Given the description of an element on the screen output the (x, y) to click on. 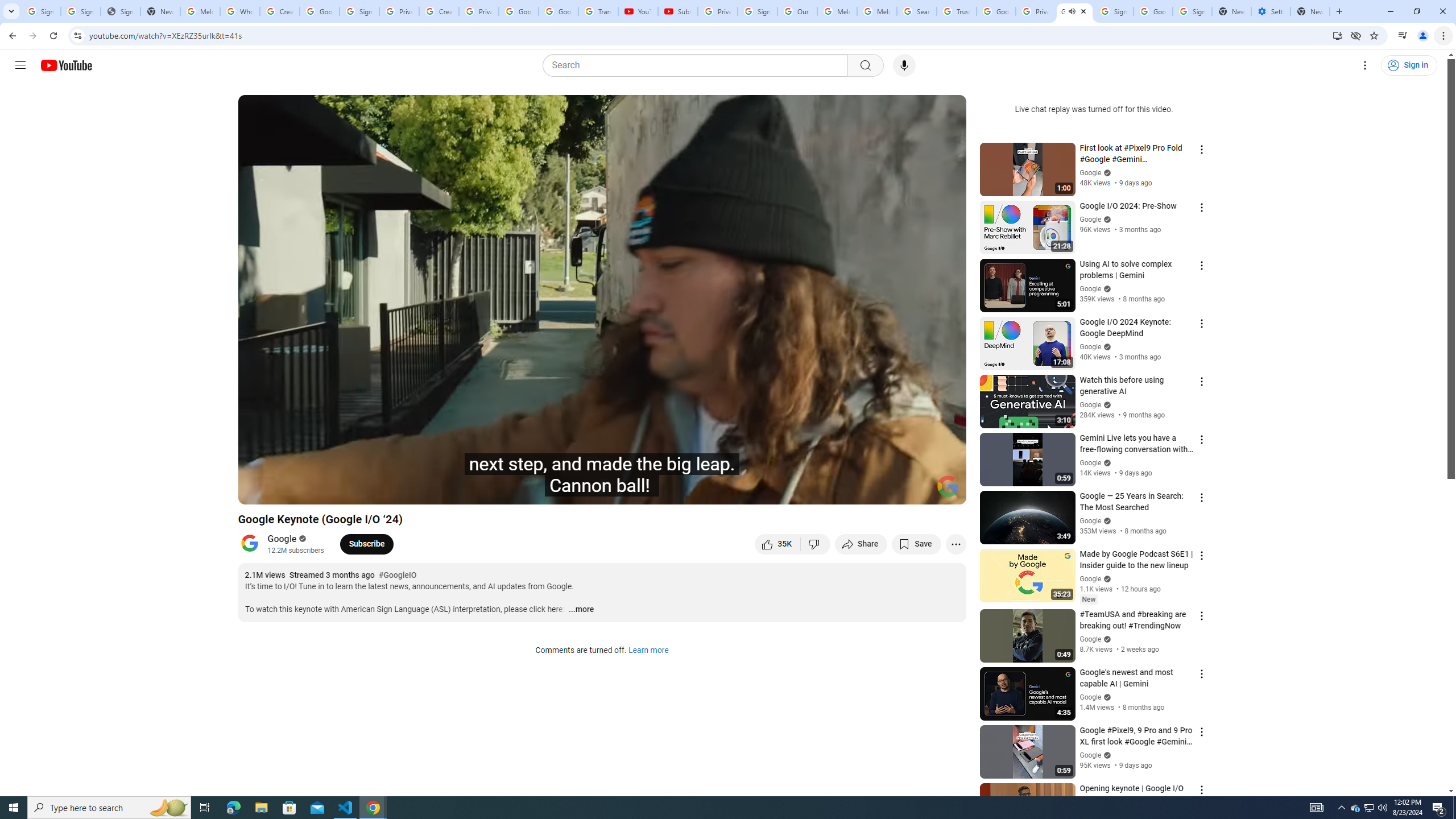
Subtitles/closed captions unavailable (836, 490)
Create your Google Account (438, 11)
Subscriptions - YouTube (677, 11)
Mute (m) (312, 490)
